Given the description of an element on the screen output the (x, y) to click on. 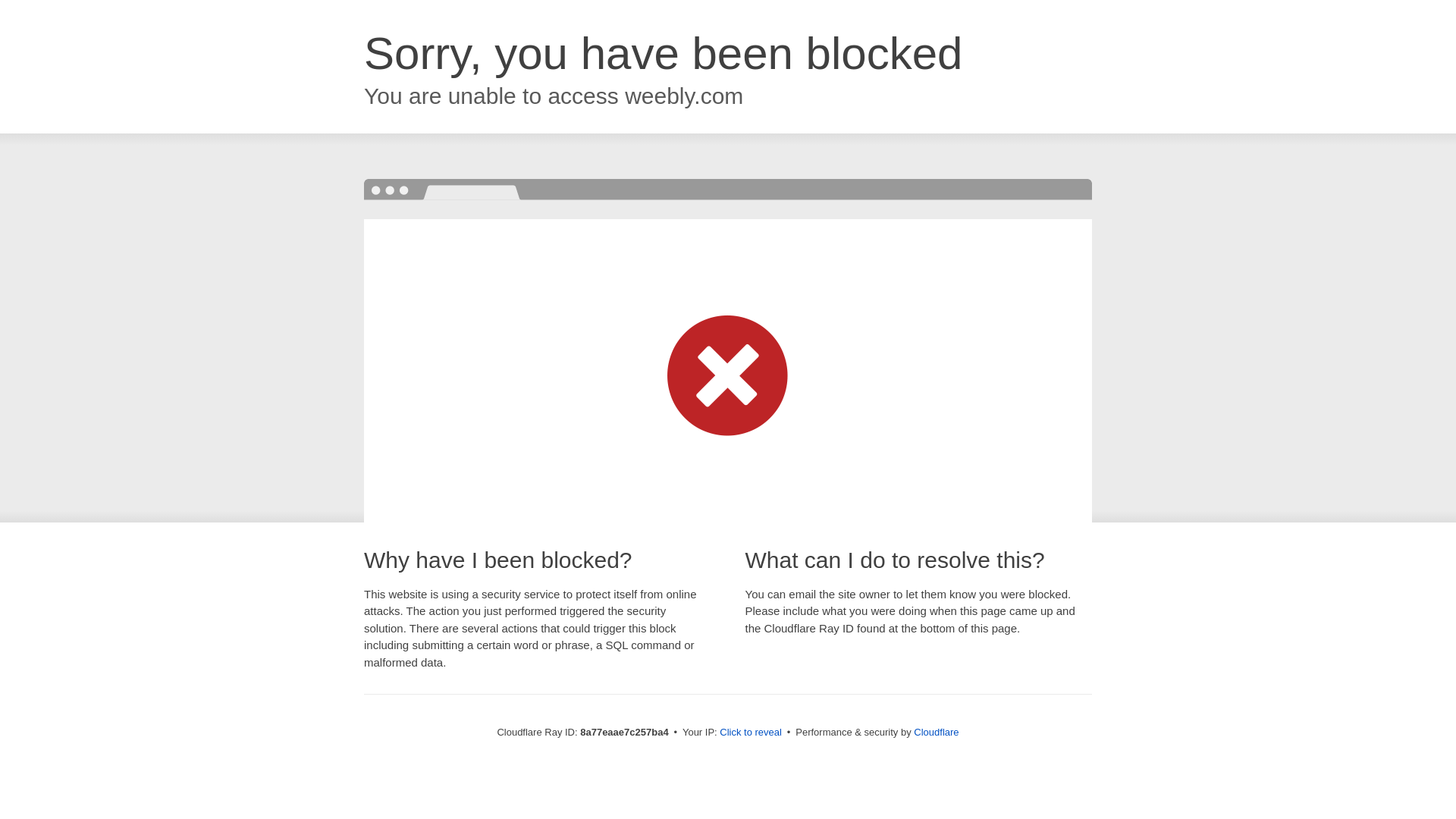
Click to reveal (750, 732)
Cloudflare (936, 731)
